Given the description of an element on the screen output the (x, y) to click on. 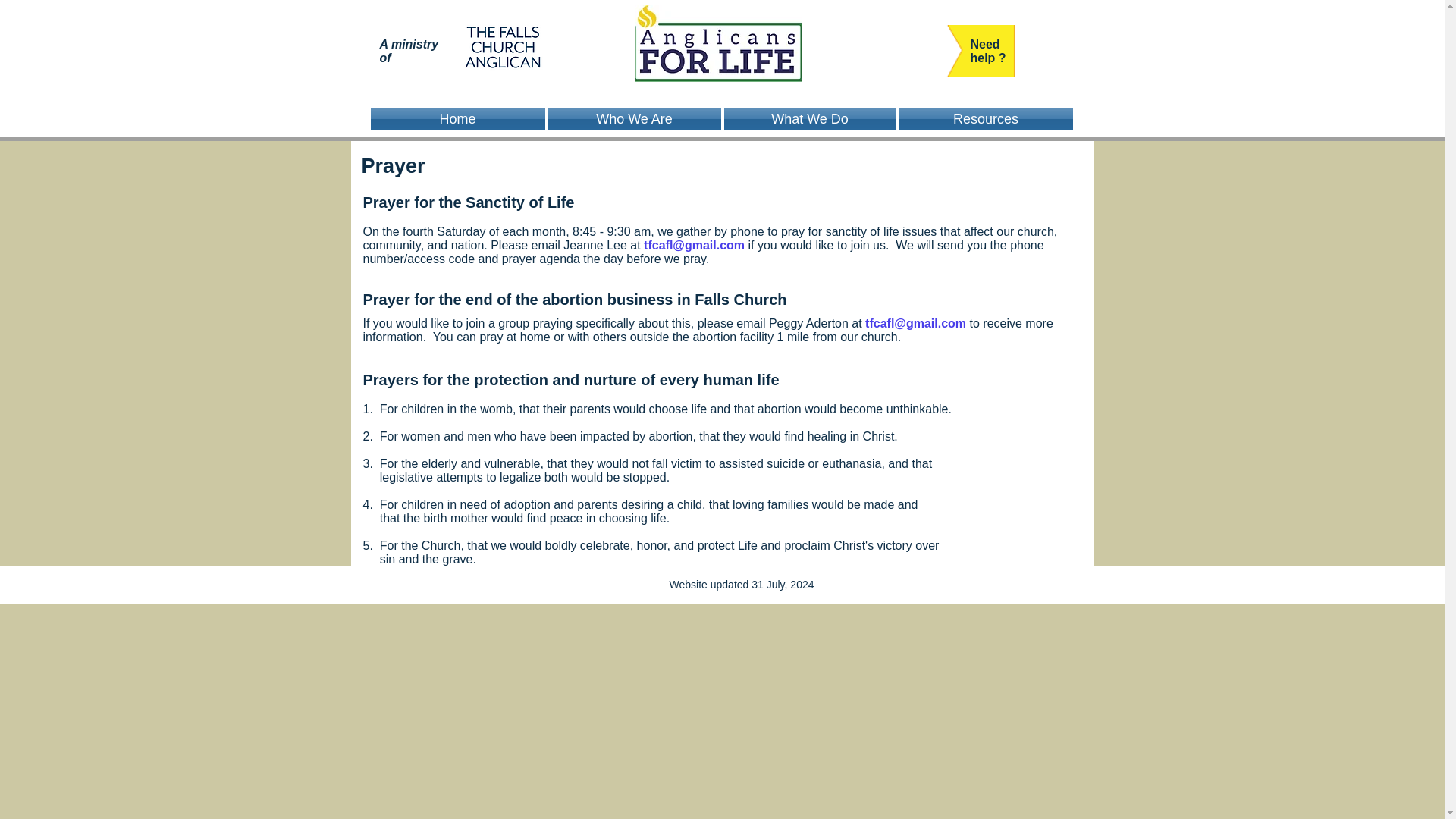
What We Do (809, 118)
Resources (985, 118)
Need help ? (988, 50)
Home (457, 118)
Who We Are (634, 118)
